Given the description of an element on the screen output the (x, y) to click on. 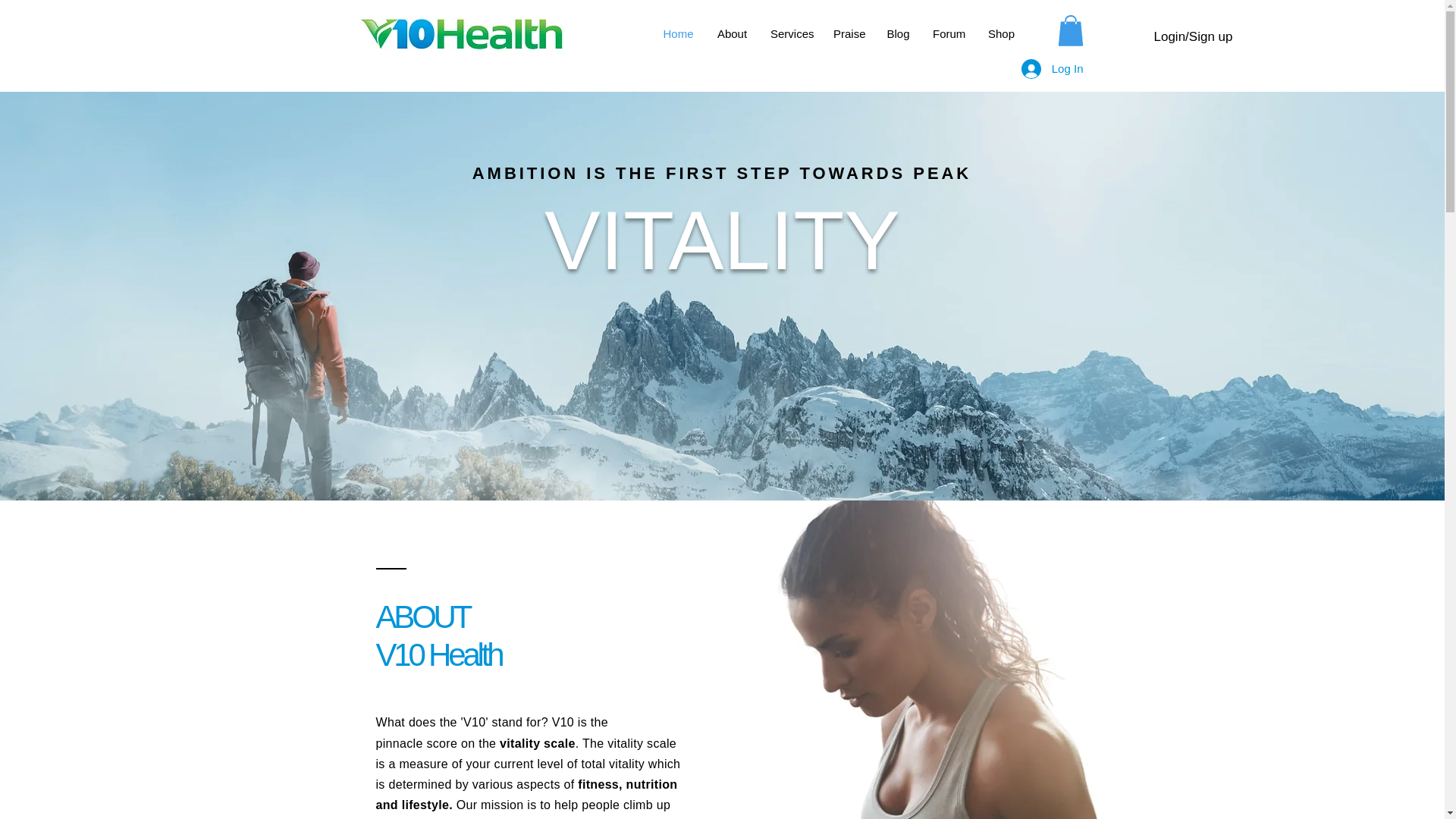
Praise (848, 34)
About (731, 34)
Home (677, 34)
Forum (948, 34)
Blog (898, 34)
Shop (1000, 34)
Log In (1052, 68)
Services (790, 34)
